Given the description of an element on the screen output the (x, y) to click on. 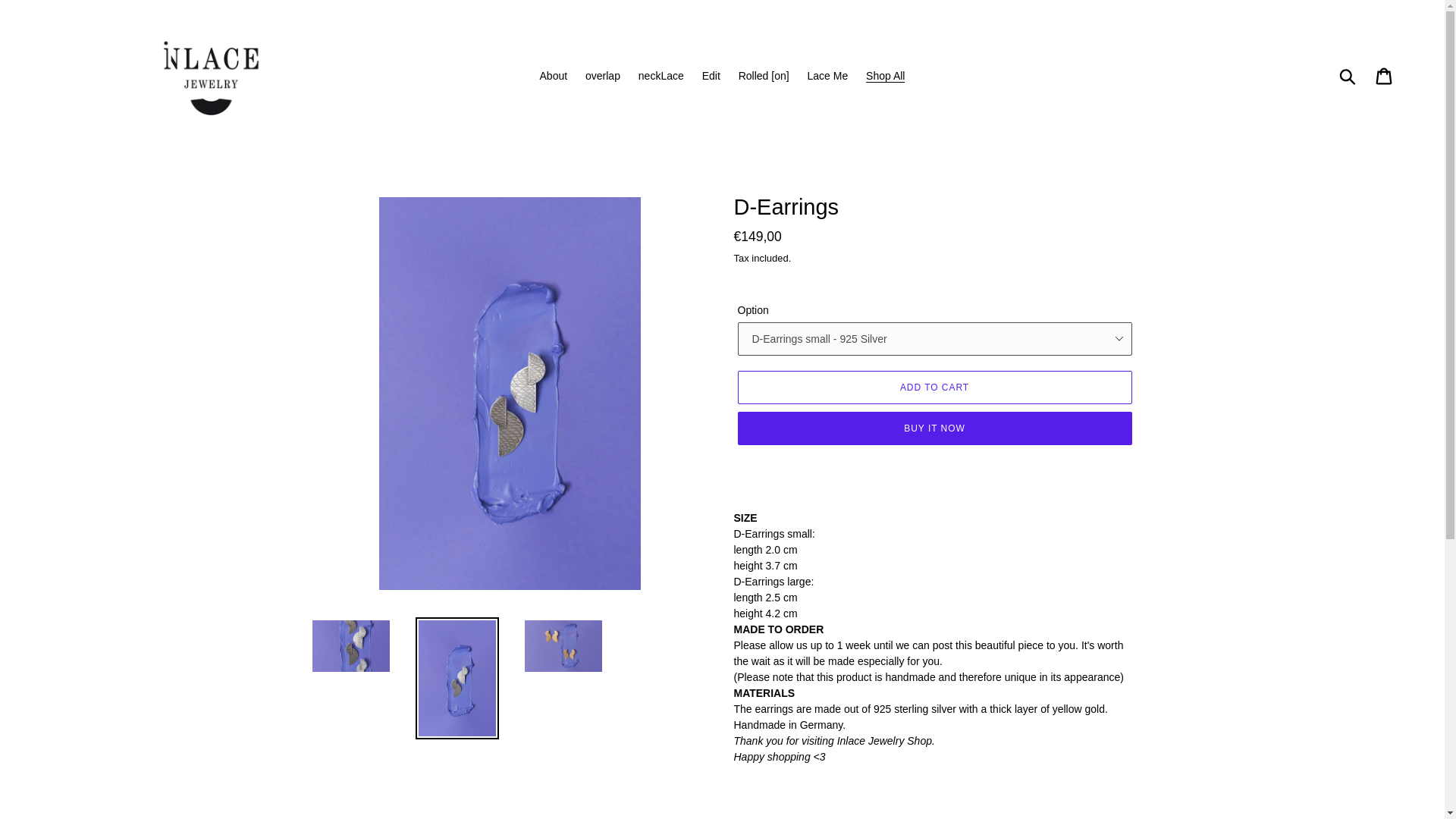
neckLace (660, 75)
overlap (602, 75)
ADD TO CART (933, 387)
Cart (1385, 74)
Edit (711, 75)
BUY IT NOW (933, 428)
Shop All (885, 75)
Lace Me (827, 75)
Submit (1348, 75)
About (553, 75)
